Given the description of an element on the screen output the (x, y) to click on. 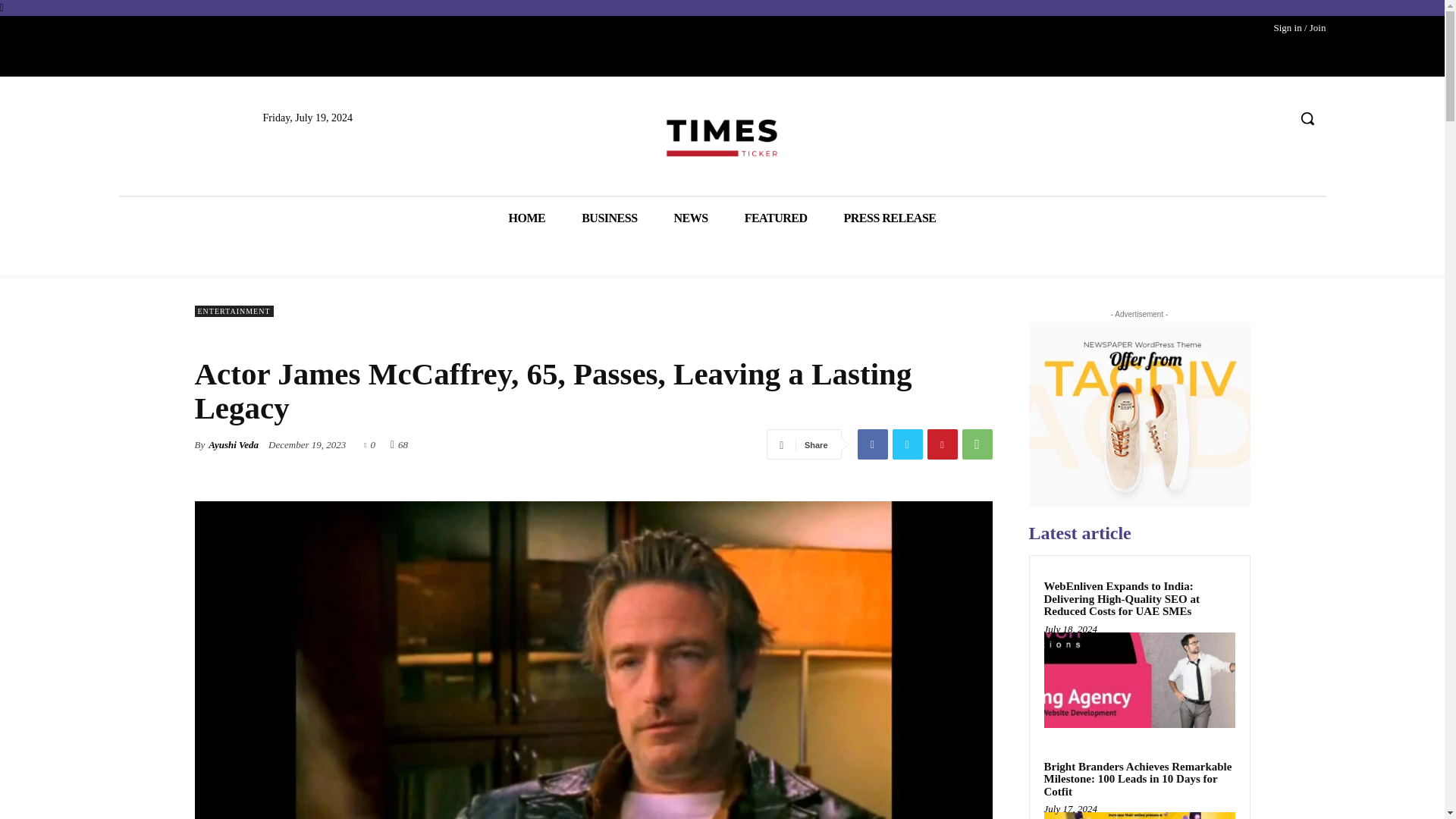
FEATURED (775, 218)
ENTERTAINMENT (233, 310)
HOME (526, 218)
Facebook (871, 444)
0 (369, 443)
NEWS (691, 218)
Twitter (906, 444)
Ayushi Veda (233, 444)
WhatsApp (975, 444)
PRESS RELEASE (889, 218)
Pinterest (941, 444)
BUSINESS (609, 218)
